Given the description of an element on the screen output the (x, y) to click on. 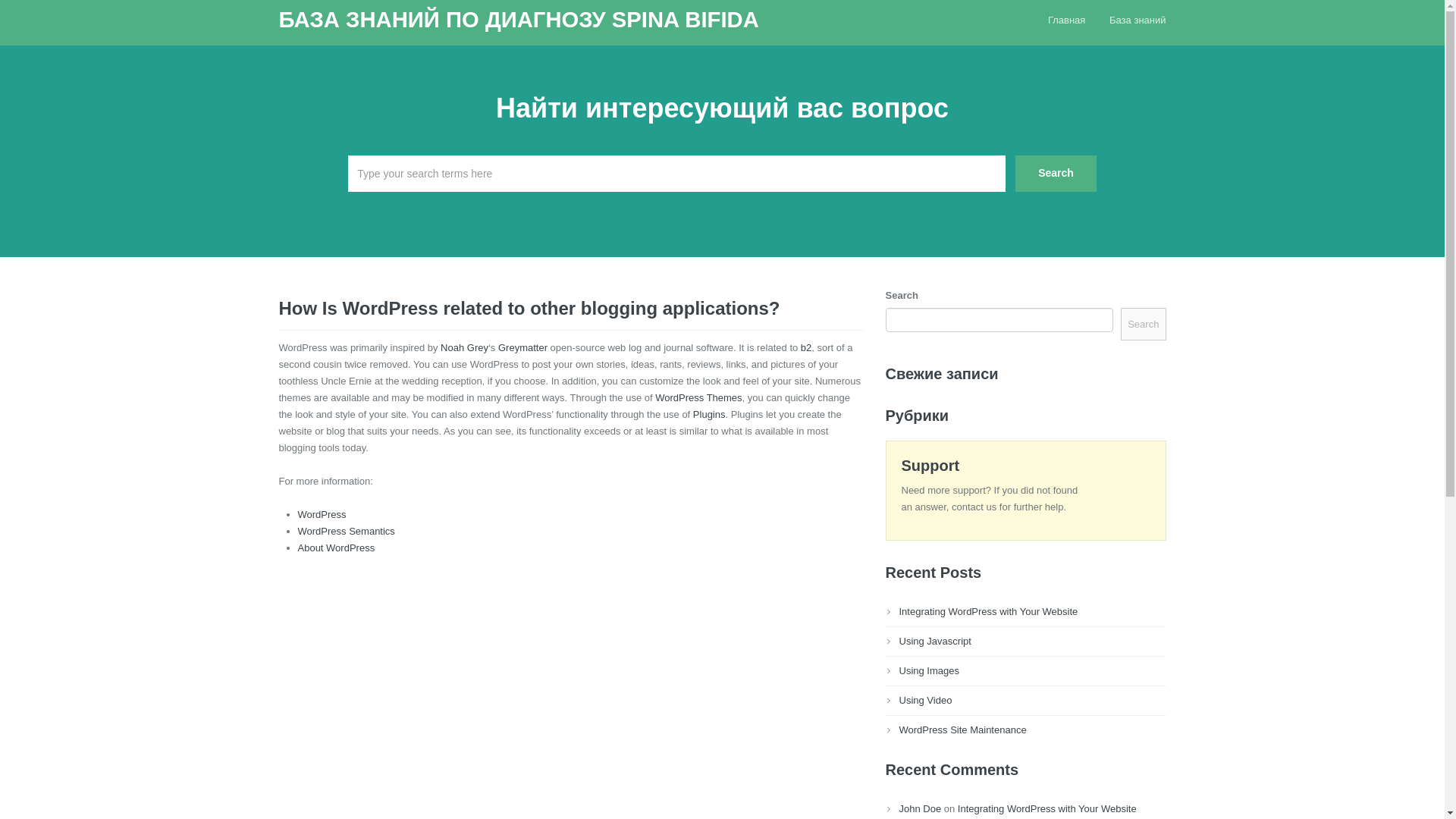
WordPress Semantics (345, 531)
John Doe (920, 808)
Greymatter (522, 347)
WordPress Site Maintenance (962, 729)
Integrating WordPress with Your Website (988, 611)
Using Themes (698, 397)
Search (1055, 173)
Noah Grey (464, 347)
Search (1055, 173)
Search (1143, 323)
WordPress (321, 514)
Using Video (925, 699)
Integrating WordPress with Your Website (1047, 808)
About WordPress (335, 547)
Using Images (929, 670)
